Given the description of an element on the screen output the (x, y) to click on. 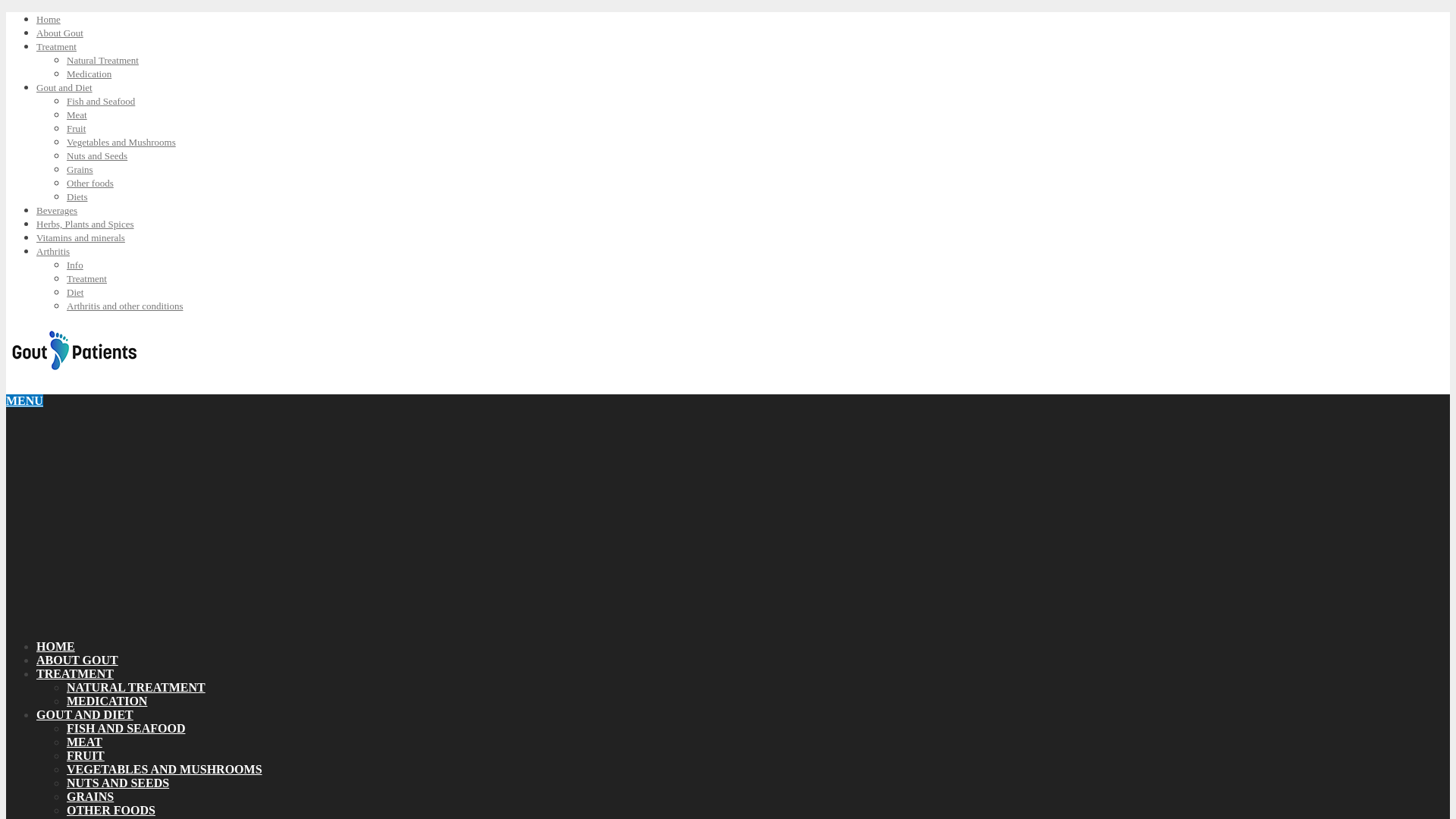
Natural Treatment (102, 60)
About Gout (59, 32)
VEGETABLES AND MUSHROOMS (164, 768)
FISH AND SEAFOOD (125, 727)
Diets (76, 196)
Nuts and Seeds (97, 155)
Home (48, 19)
Vegetables and Mushrooms (121, 142)
Fish and Seafood (100, 101)
Treatment (56, 46)
ABOUT GOUT (76, 659)
Diet (74, 292)
Arthritis (52, 251)
HOME (55, 645)
